Given the description of an element on the screen output the (x, y) to click on. 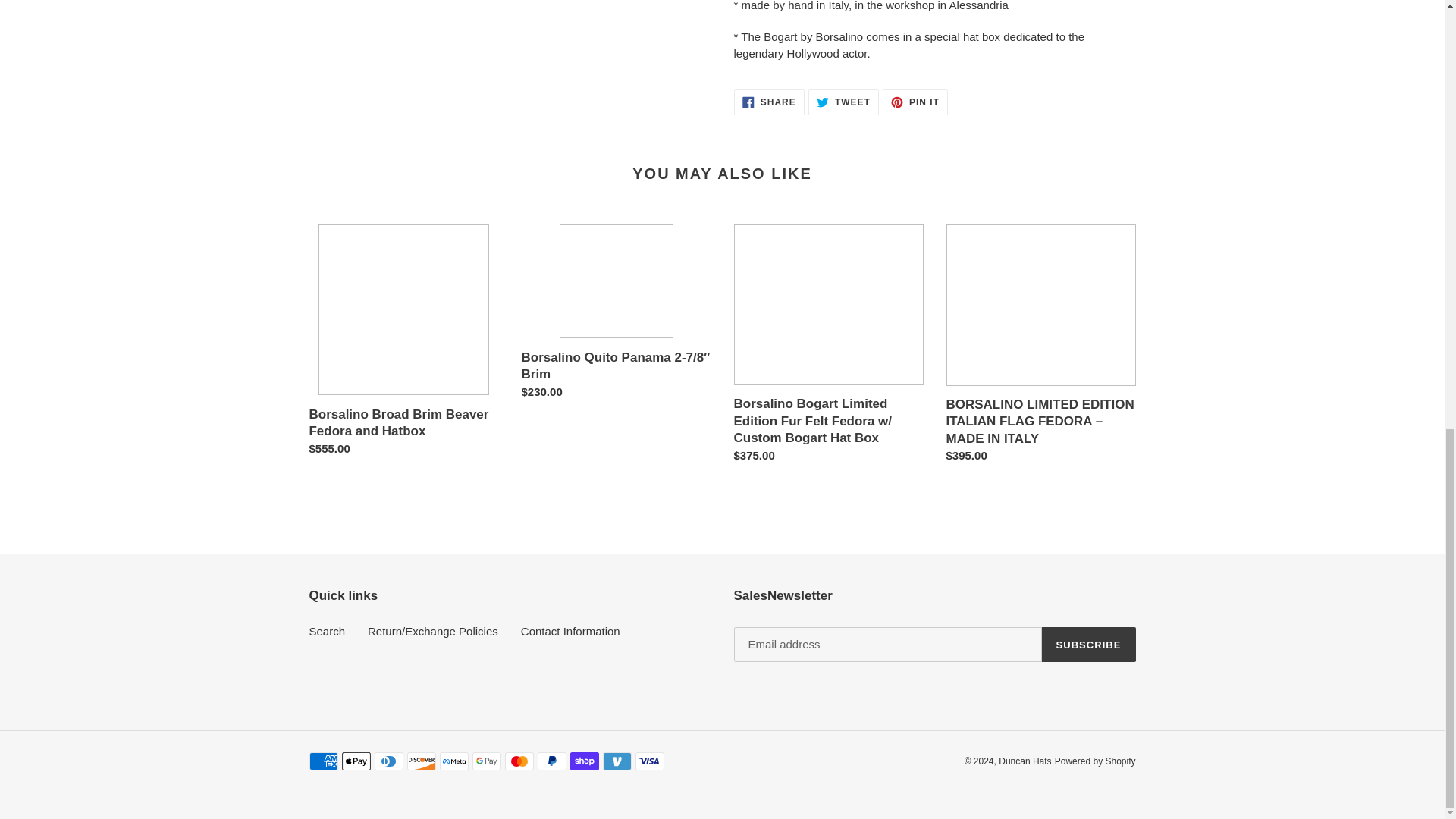
Powered by Shopify (843, 102)
Duncan Hats (914, 102)
Search (1094, 760)
SUBSCRIBE (1024, 760)
Borsalino Broad Brim Beaver Fedora and Hatbox (327, 631)
Contact Information (769, 102)
